Given the description of an element on the screen output the (x, y) to click on. 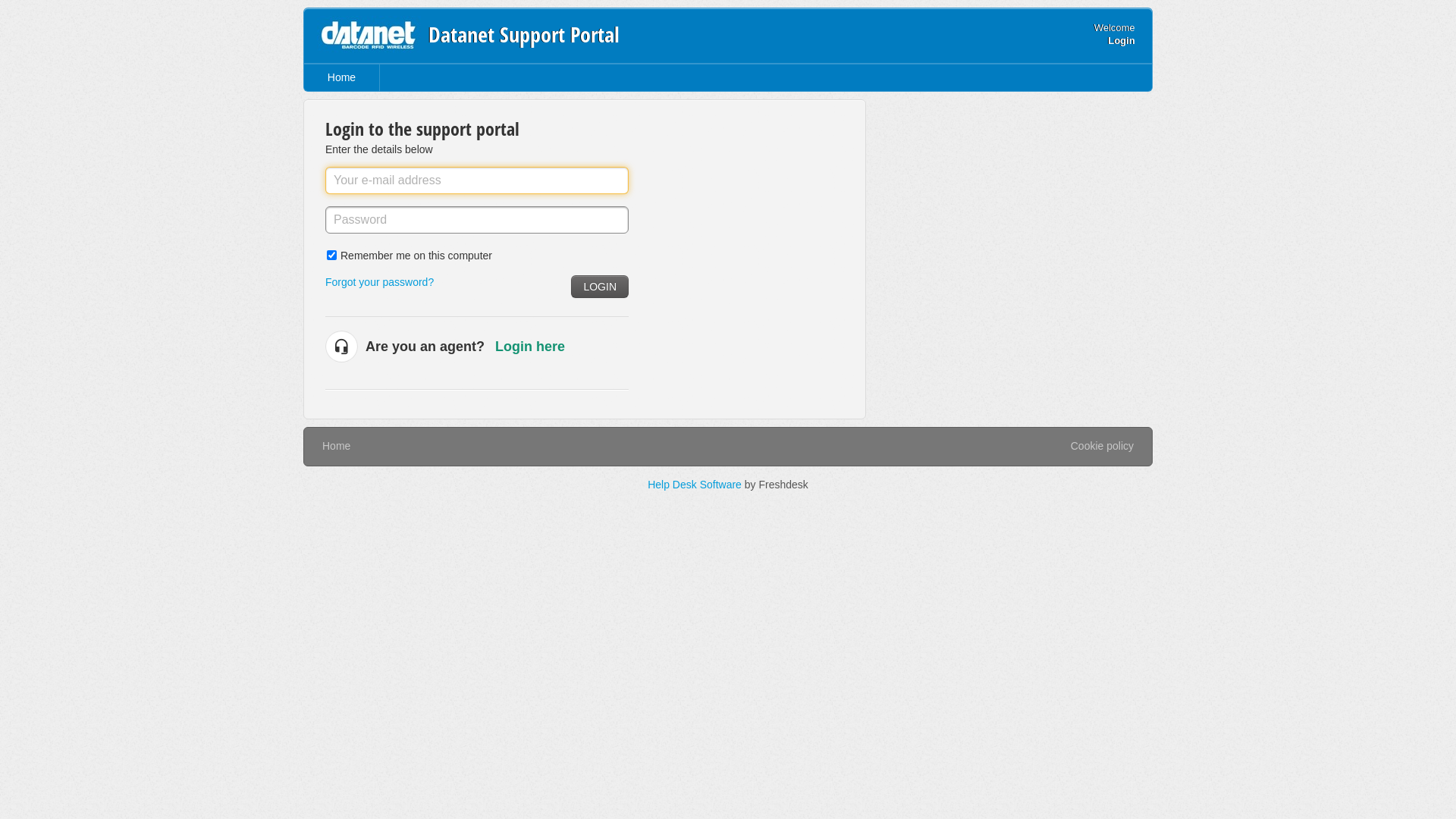
Login Element type: text (1120, 40)
Help Desk Software Element type: text (695, 484)
Forgot your password? Element type: text (379, 282)
LOGIN Element type: text (599, 286)
Home Element type: text (336, 445)
Home Element type: text (341, 77)
Login here Element type: text (529, 346)
Cookie policy Element type: text (1101, 446)
